Given the description of an element on the screen output the (x, y) to click on. 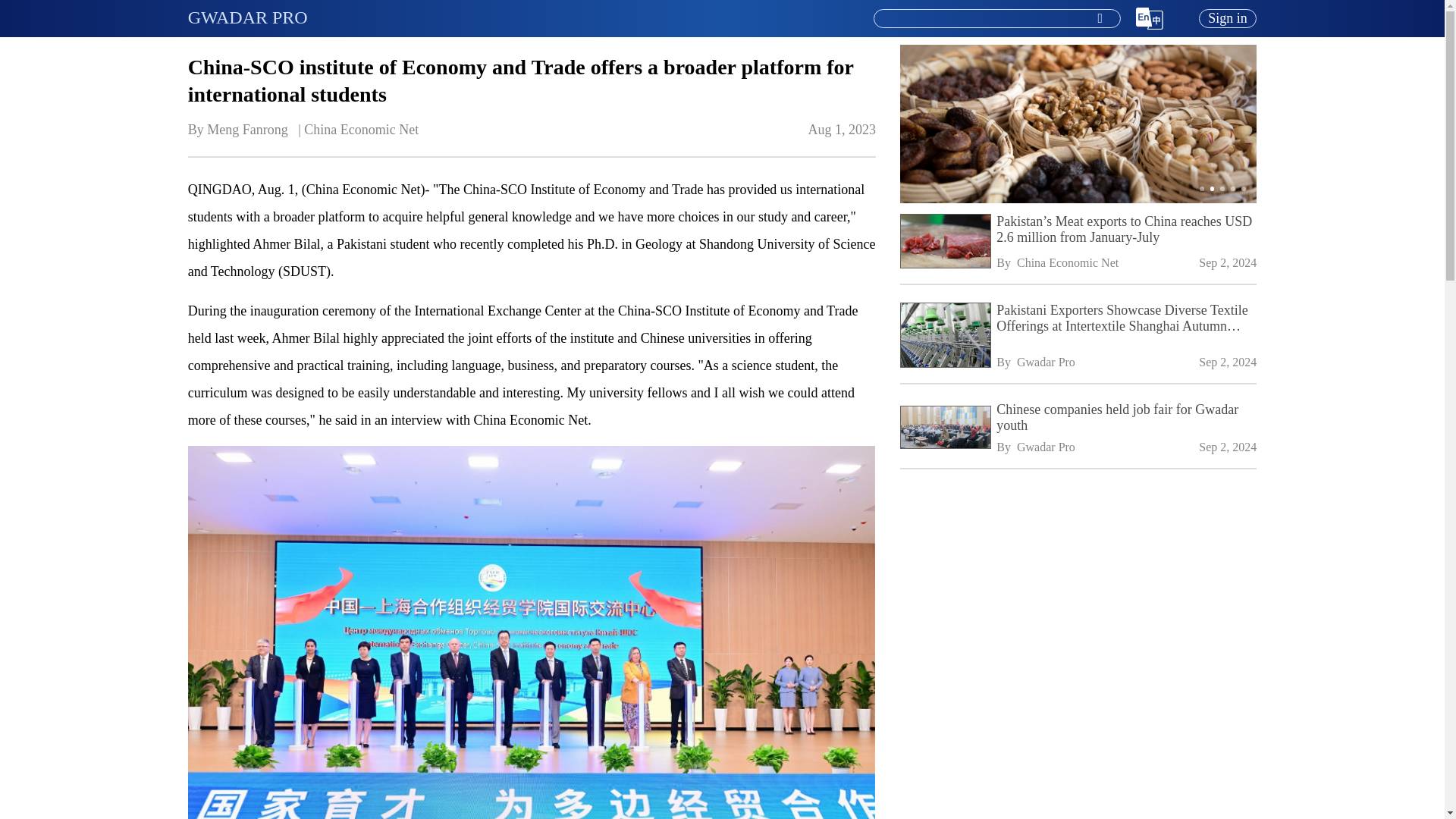
GWADAR PRO (247, 17)
Chinese companies held job fair for Gwadar youth (1125, 418)
Chinese companies held job fair for Gwadar youth (943, 428)
